Given the description of an element on the screen output the (x, y) to click on. 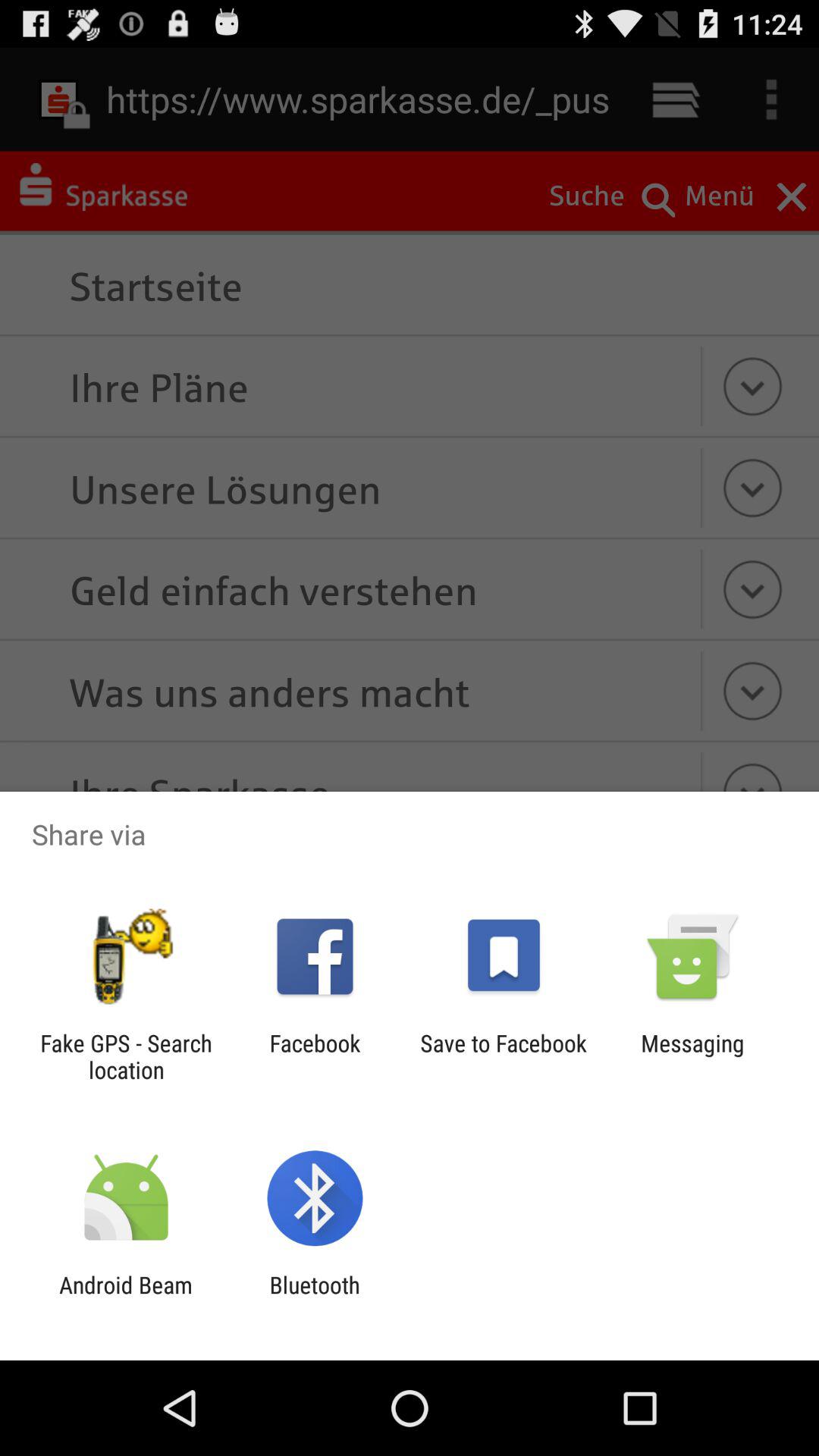
choose the item to the right of android beam app (314, 1298)
